Given the description of an element on the screen output the (x, y) to click on. 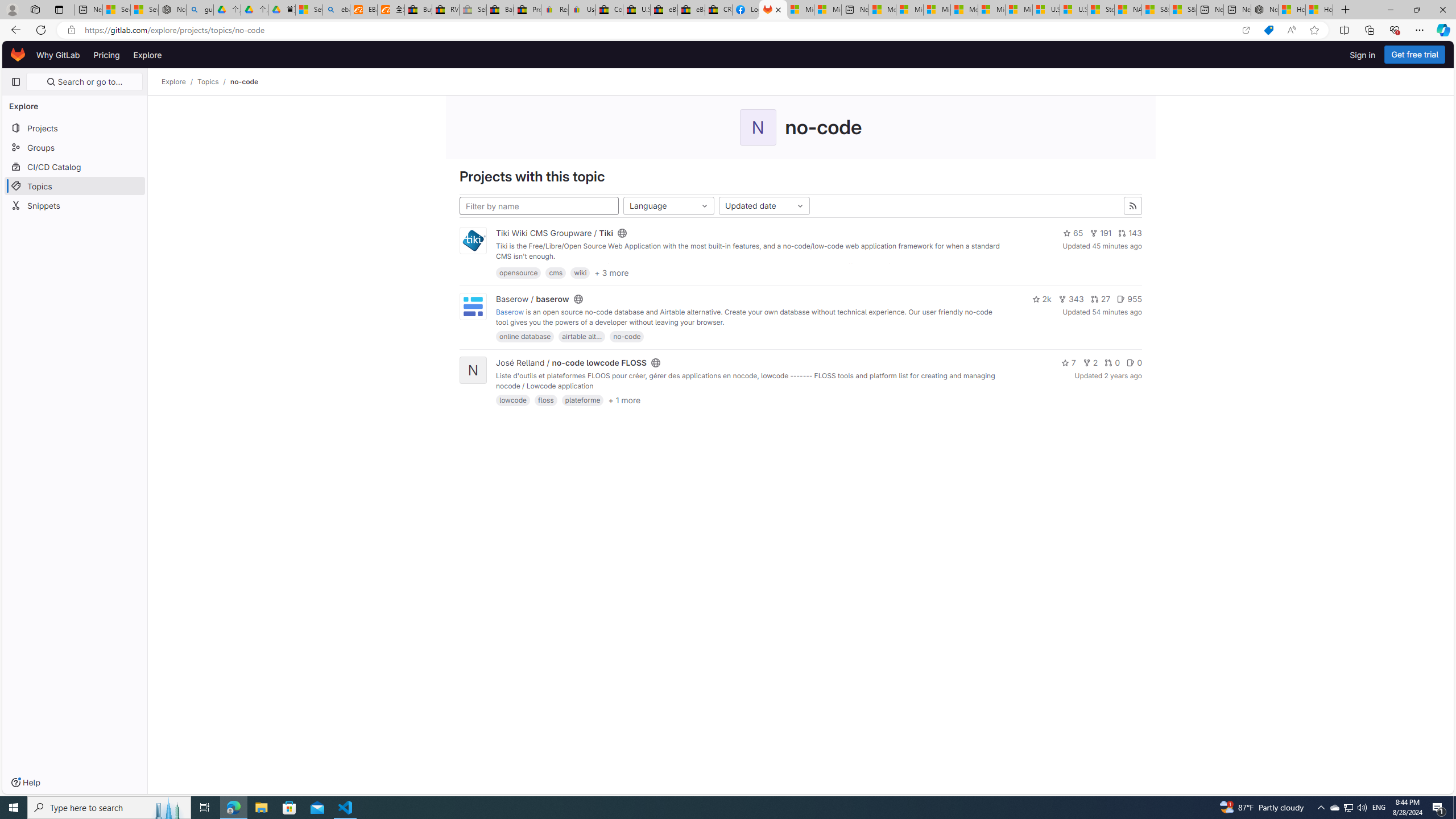
N (473, 370)
User Privacy Notice | eBay (581, 9)
Log into Facebook (746, 9)
Explore (173, 81)
floss (545, 399)
Primary navigation sidebar (15, 81)
191 (1100, 232)
Projects (74, 127)
Pricing (106, 54)
Class: s14 gl-mr-2 (1130, 362)
Consumer Health Data Privacy Policy - eBay Inc. (609, 9)
